Given the description of an element on the screen output the (x, y) to click on. 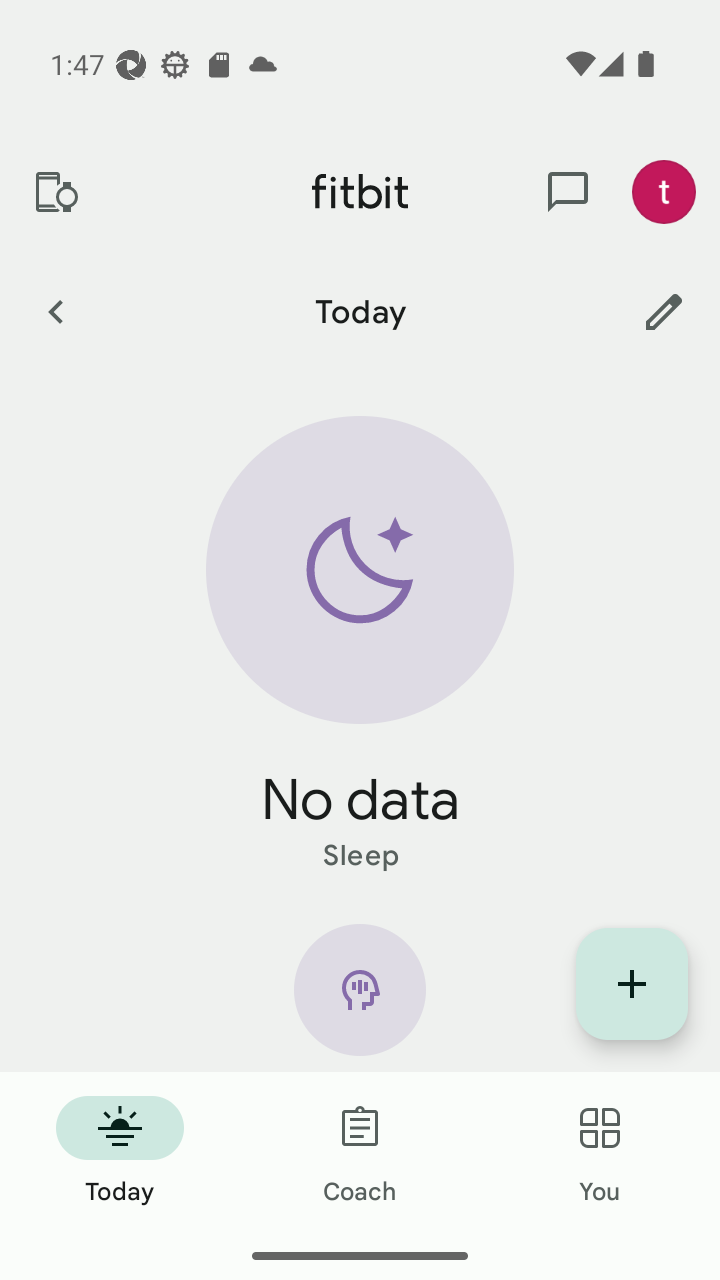
Devices and apps (55, 191)
messages and notifications (567, 191)
Previous Day (55, 311)
Customize (664, 311)
Sleep static hero arc No data Sleep (359, 645)
Mindfulness icon (360, 998)
Display list of quick log entries (632, 983)
Coach (359, 1151)
You (600, 1151)
